Given the description of an element on the screen output the (x, y) to click on. 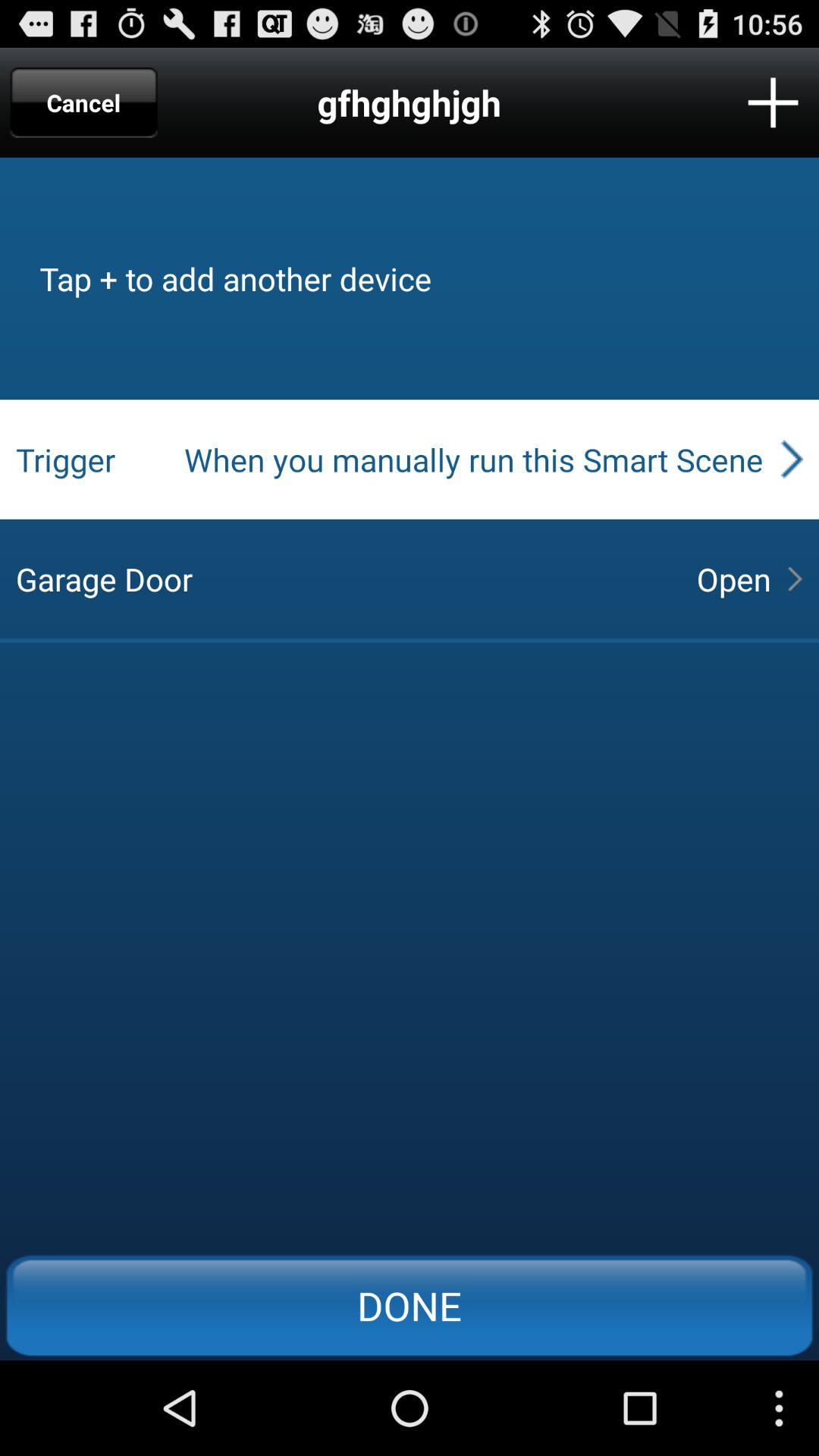
choose the icon to the right of gfhghghjgh app (773, 102)
